Given the description of an element on the screen output the (x, y) to click on. 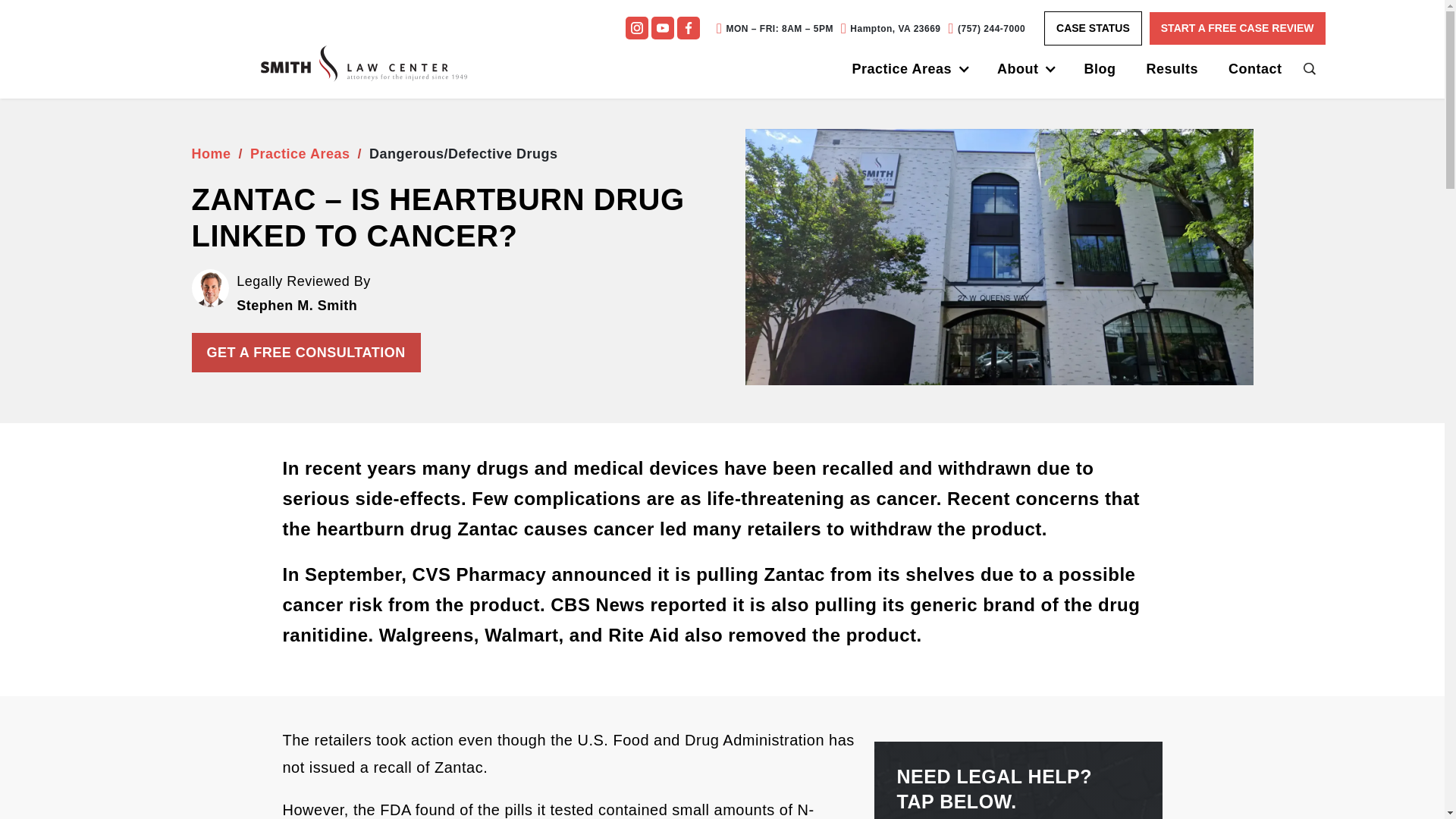
CASE STATUS (1092, 28)
Practice Areas (901, 68)
START A FREE CASE REVIEW (1237, 28)
